Given the description of an element on the screen output the (x, y) to click on. 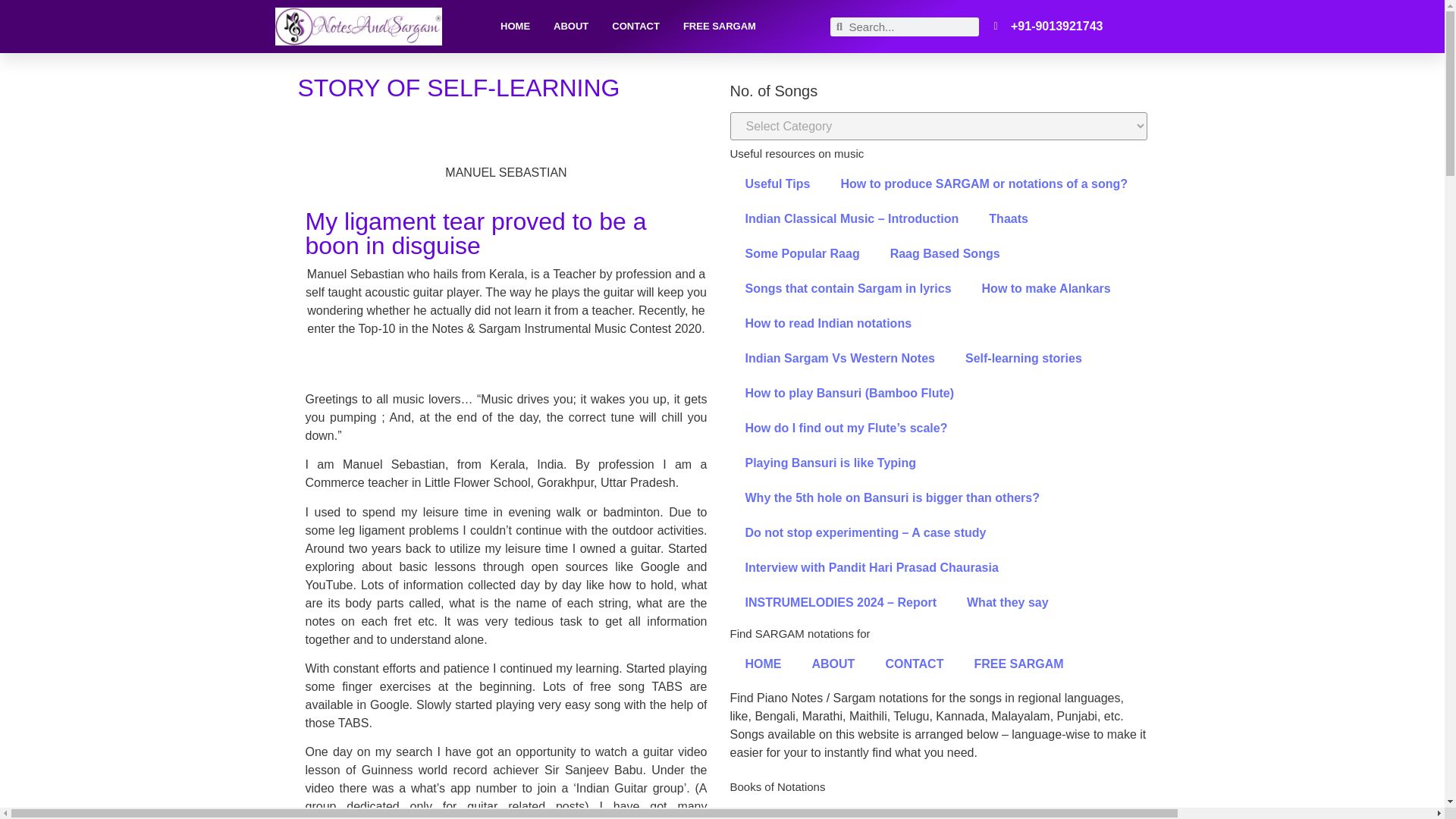
How to read Indian notations (827, 323)
Raag Based Songs (944, 253)
Why the 5th hole on Bansuri is bigger than others? (891, 497)
How to produce SARGAM or notations of a song? (983, 184)
Thaats (1008, 218)
Some Popular Raag (802, 253)
How to make Alankars (1045, 288)
Songs that contain Sargam in lyrics (847, 288)
Interview with Pandit Hari Prasad Chaurasia (871, 567)
Playing Bansuri is like Typing (830, 462)
What they say (1008, 602)
Self-learning stories (1023, 358)
FREE SARGAM (718, 26)
Useful Tips (777, 184)
CONTACT (635, 26)
